Given the description of an element on the screen output the (x, y) to click on. 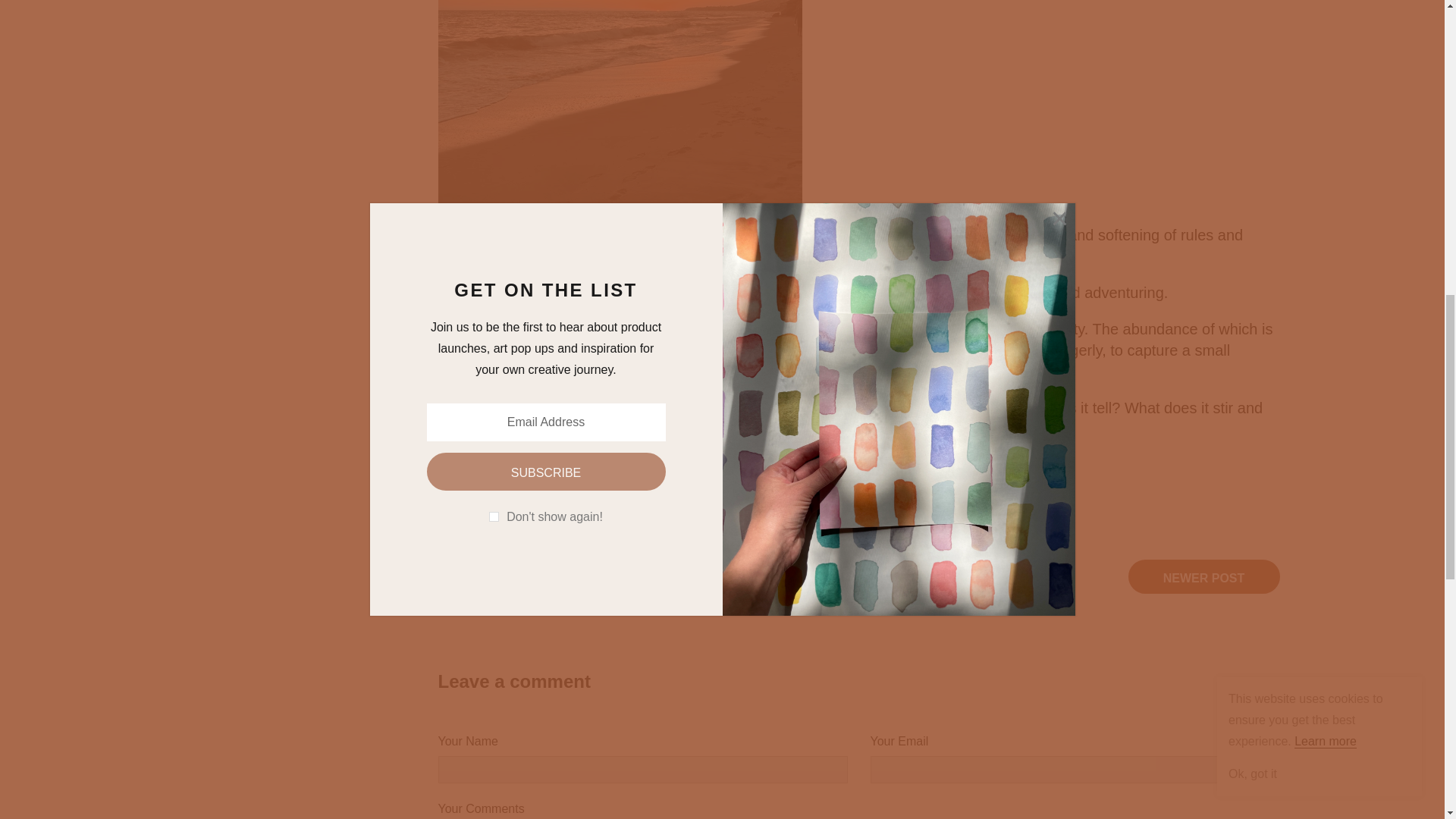
here (699, 466)
OLDER POST (513, 576)
NEWER POST (1203, 576)
